Given the description of an element on the screen output the (x, y) to click on. 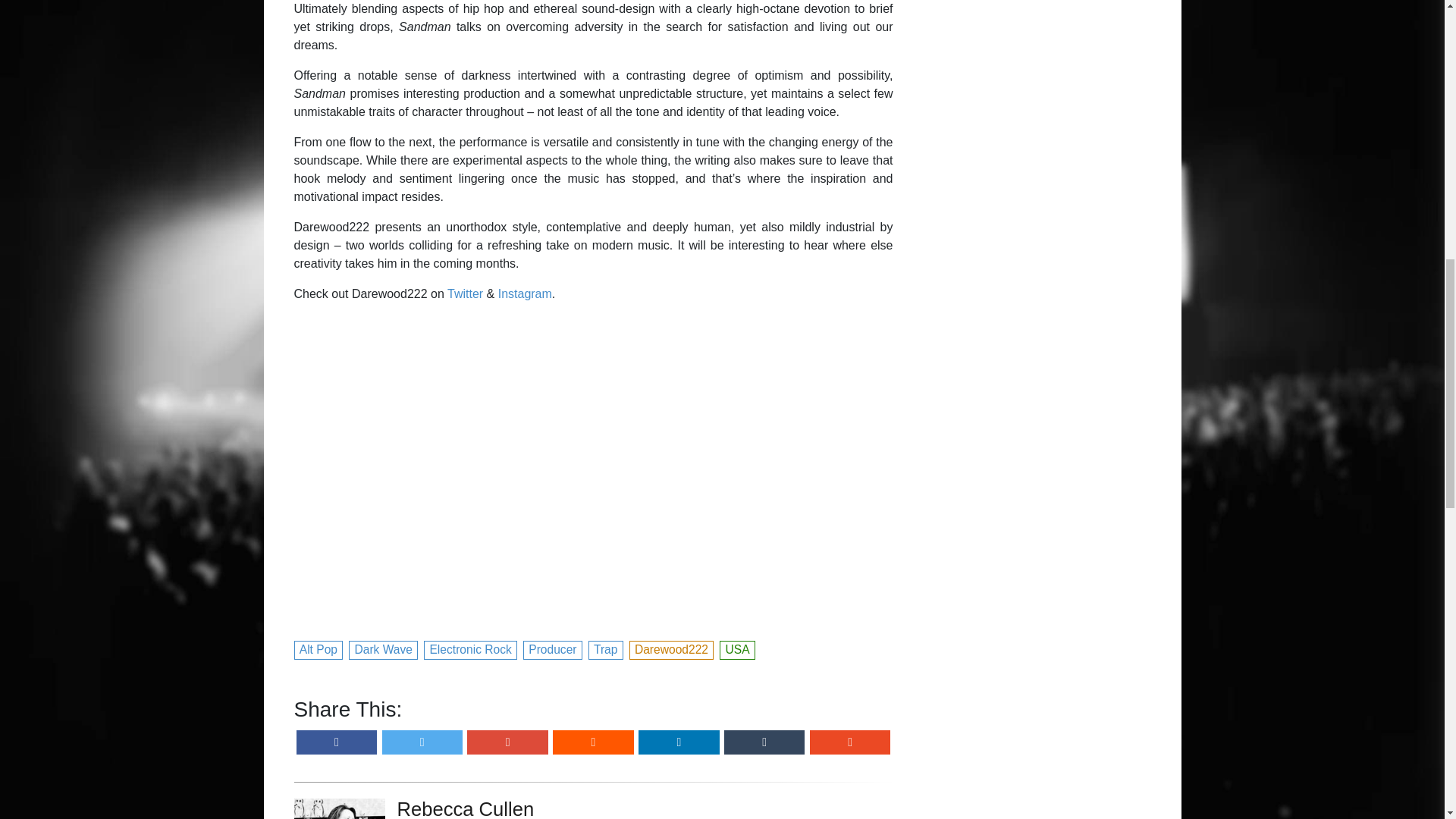
Dark Wave (384, 647)
Electronic Rock (470, 647)
Alt Pop (318, 647)
Darewood222 (671, 647)
Instagram (524, 293)
Trap (606, 647)
USA (737, 647)
Twitter (464, 293)
Producer (552, 647)
